Given the description of an element on the screen output the (x, y) to click on. 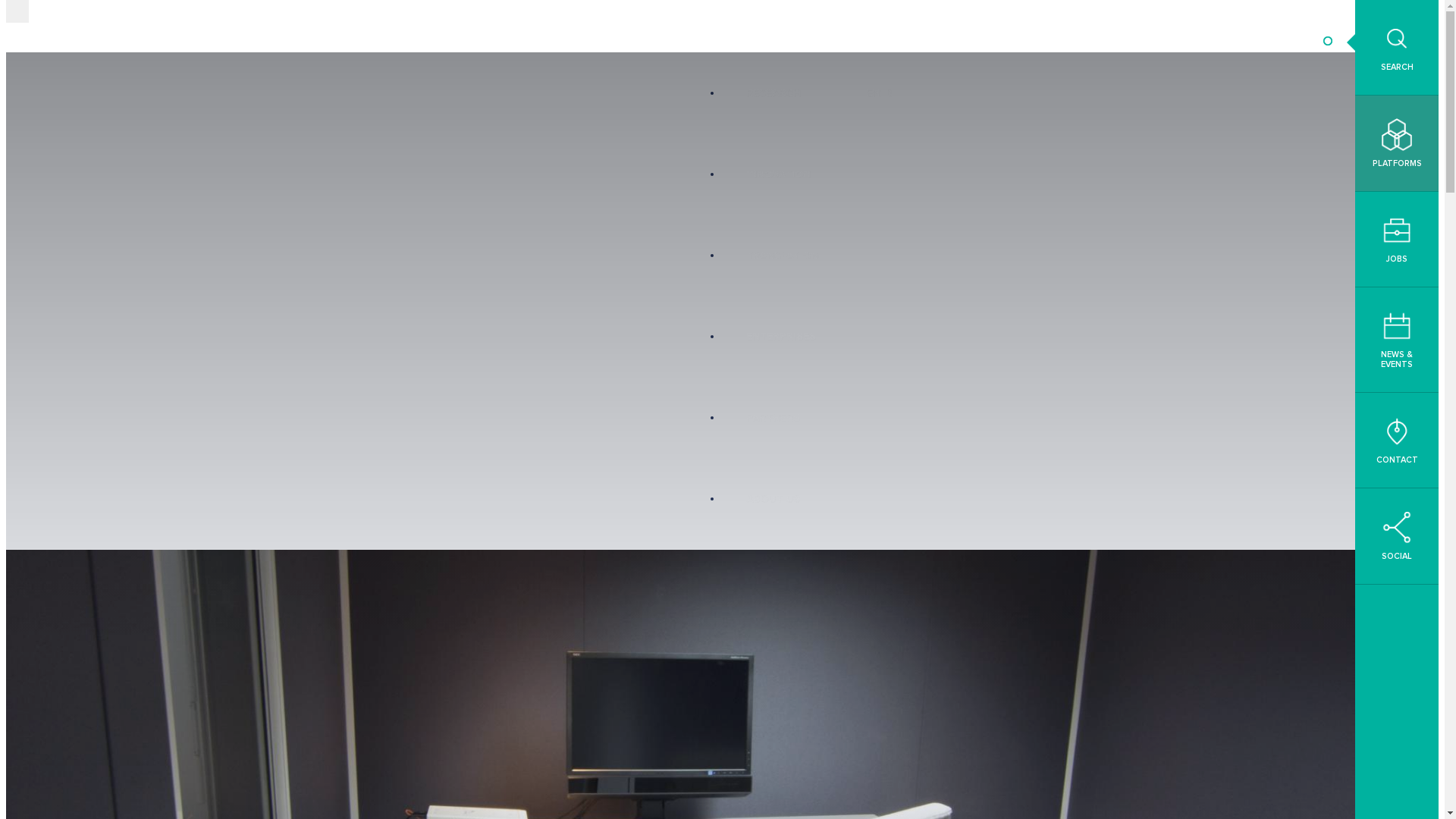
ABOUT US Element type: text (772, 498)
JOBS Element type: text (1396, 239)
SEARCH Element type: text (1396, 47)
Skip to main content Element type: text (6, 0)
PLATFORMS Element type: text (1396, 143)
INNOVATION Element type: text (777, 173)
CONTACT Element type: text (1396, 440)
PARTNERS Element type: text (772, 417)
ENTERPRISES Element type: text (780, 335)
Toggle navigation Element type: text (17, 11)
Home Element type: hover (53, 26)
TRANSLATION Element type: text (781, 254)
NEWS & EVENTS Element type: text (1396, 339)
RESEARCH Element type: text (773, 92)
SOCIAL Element type: text (1396, 535)
